Given the description of an element on the screen output the (x, y) to click on. 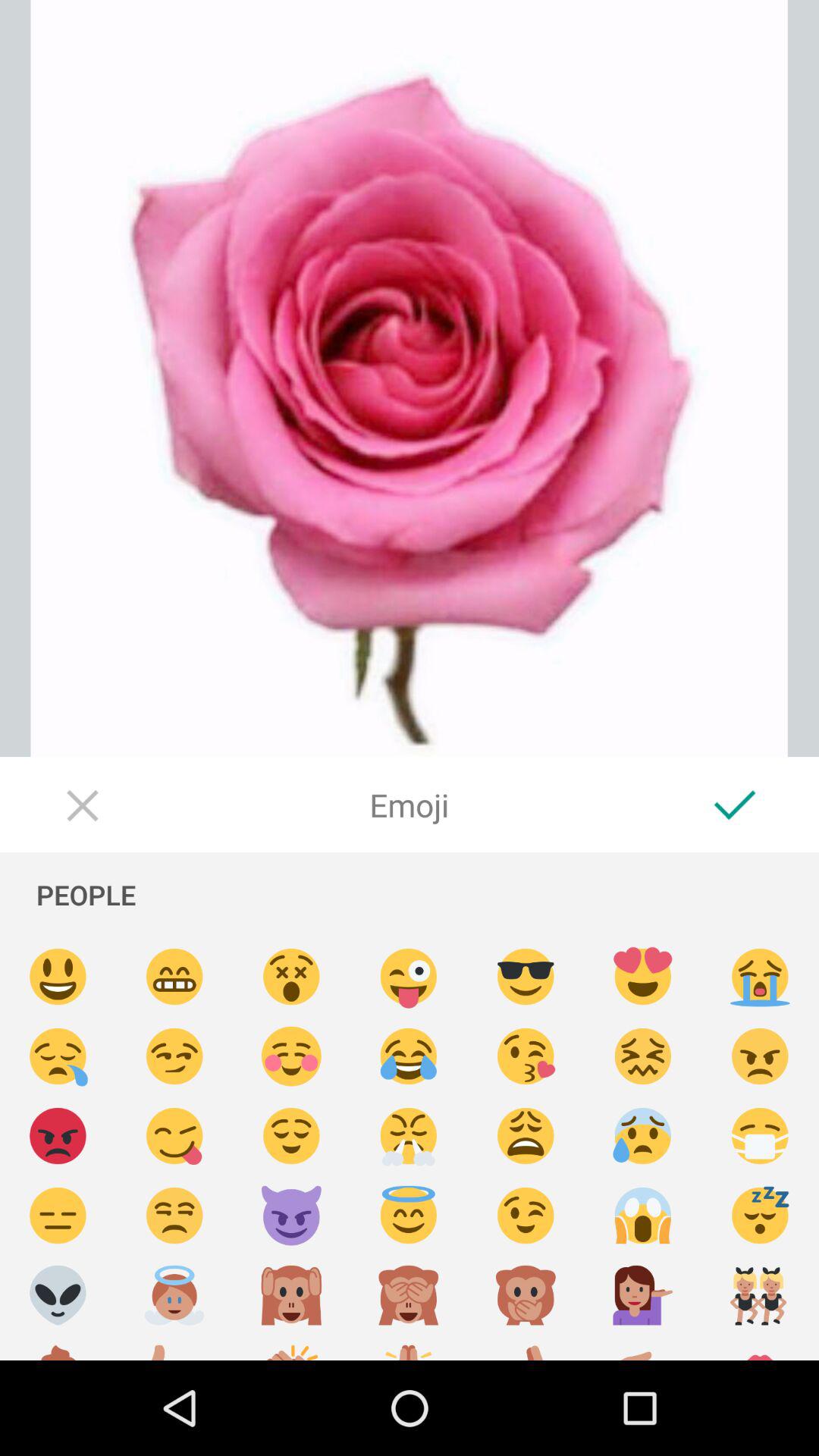
two girls emoji (760, 1295)
